Given the description of an element on the screen output the (x, y) to click on. 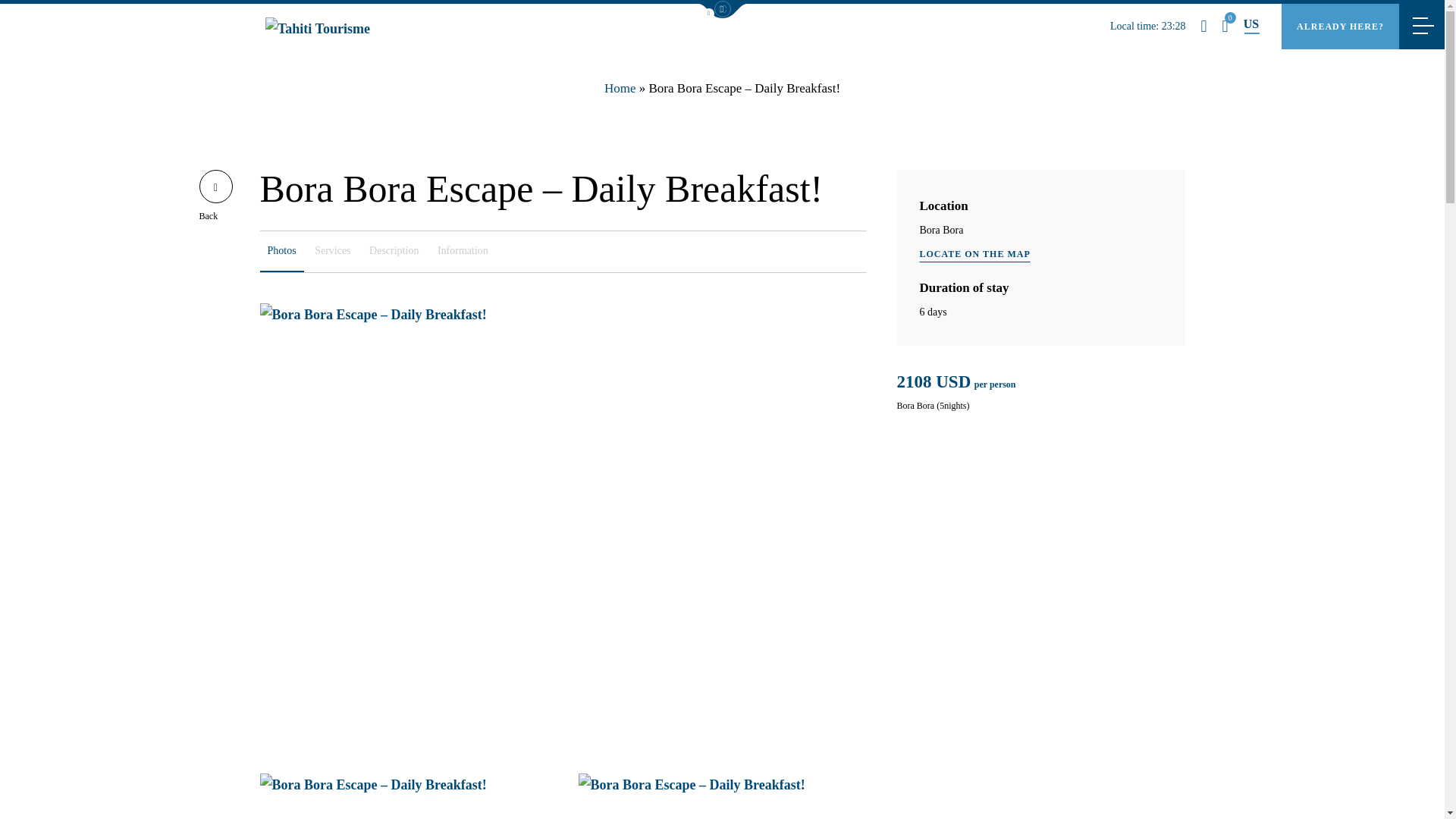
Tahiti Tourisme (316, 33)
en-US (1251, 23)
